Given the description of an element on the screen output the (x, y) to click on. 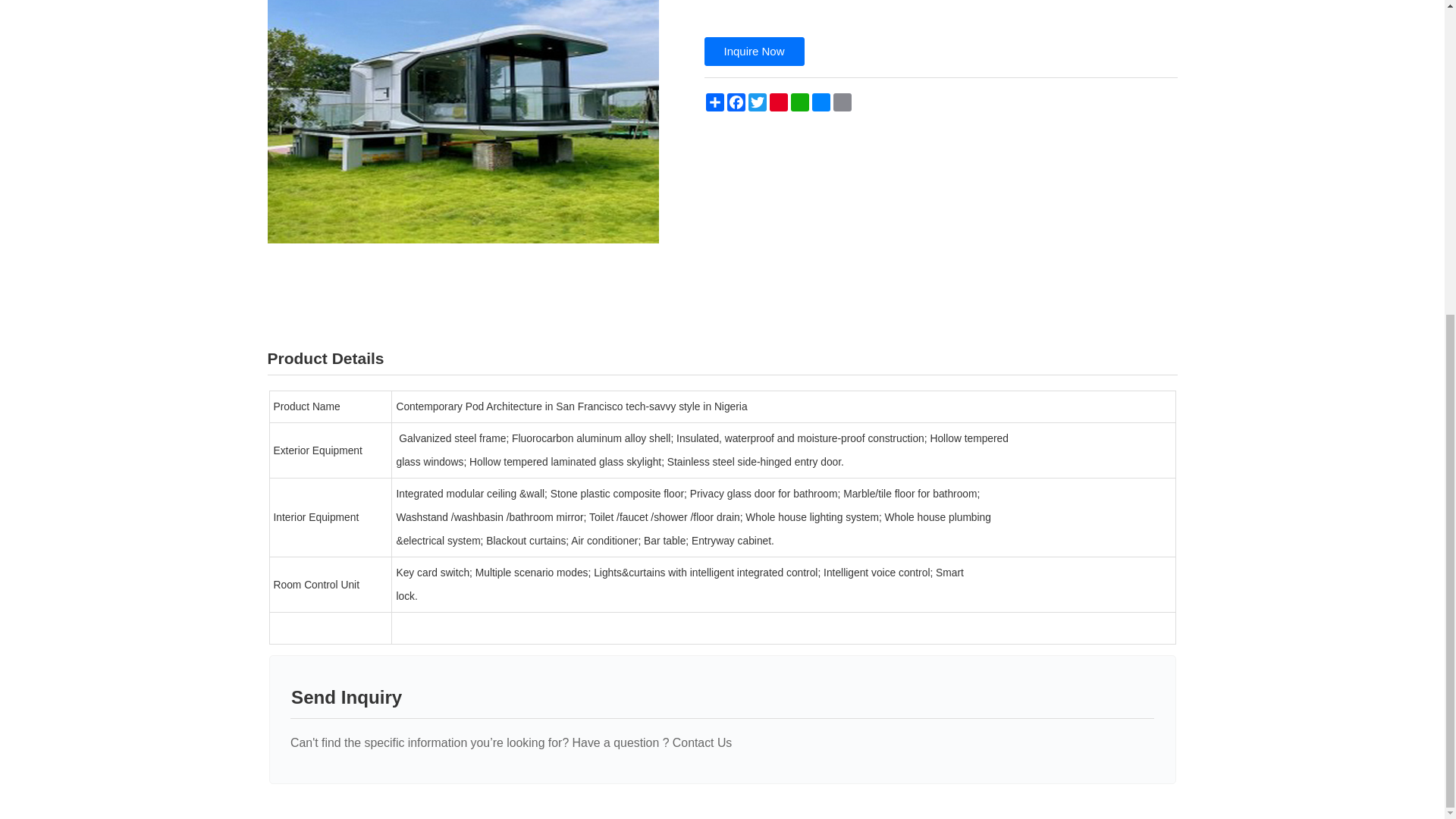
Email (841, 102)
Facebook (735, 102)
Twitter (756, 102)
Messenger (820, 102)
Share (714, 102)
Inquire Now (753, 51)
Pinterest (778, 102)
WhatsApp (799, 102)
